Given the description of an element on the screen output the (x, y) to click on. 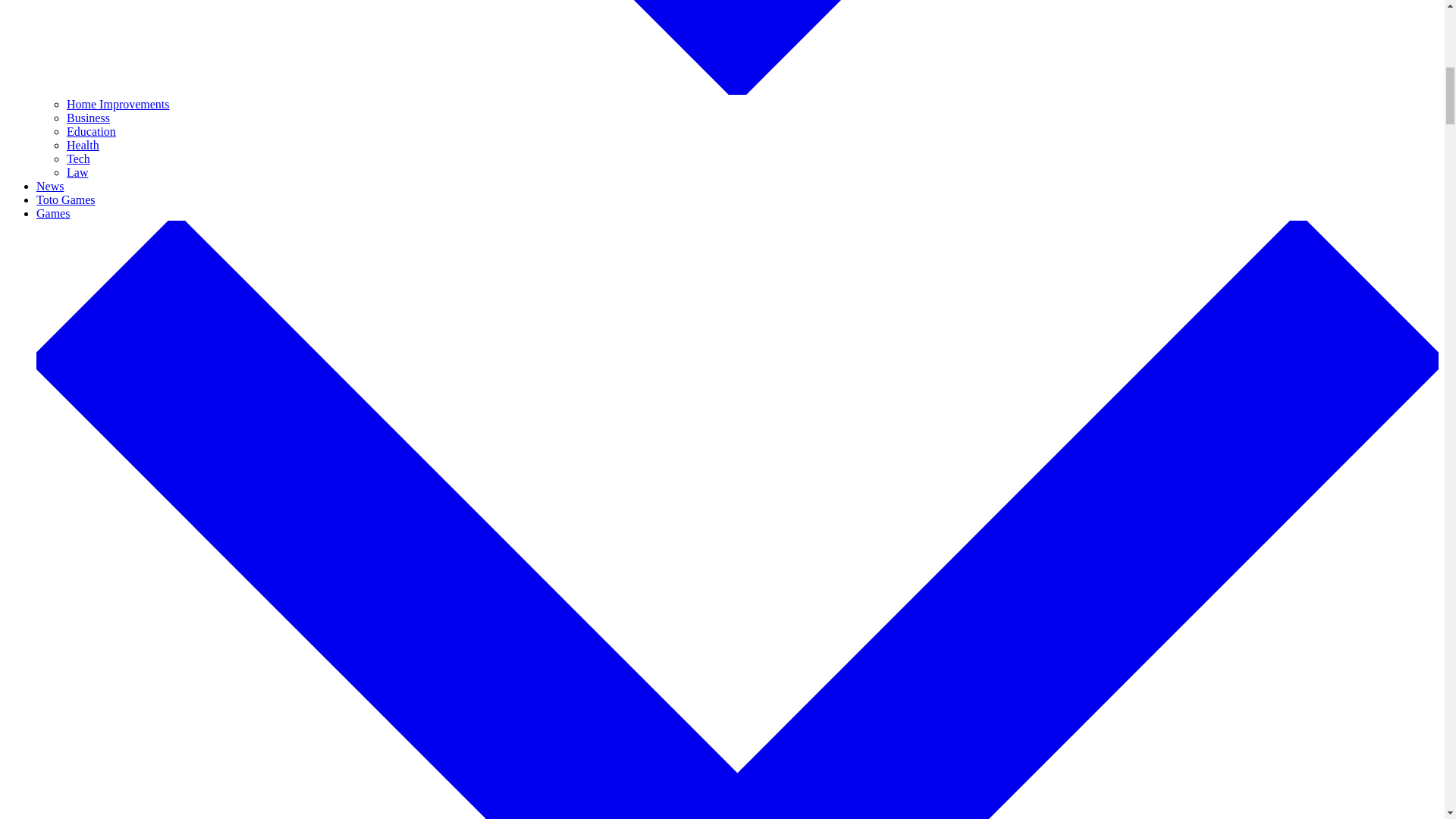
Business (88, 117)
Tech (78, 158)
Law (76, 172)
Home Improvements (118, 103)
Education (91, 131)
News (50, 185)
Toto Games (66, 199)
Health (82, 144)
